Given the description of an element on the screen output the (x, y) to click on. 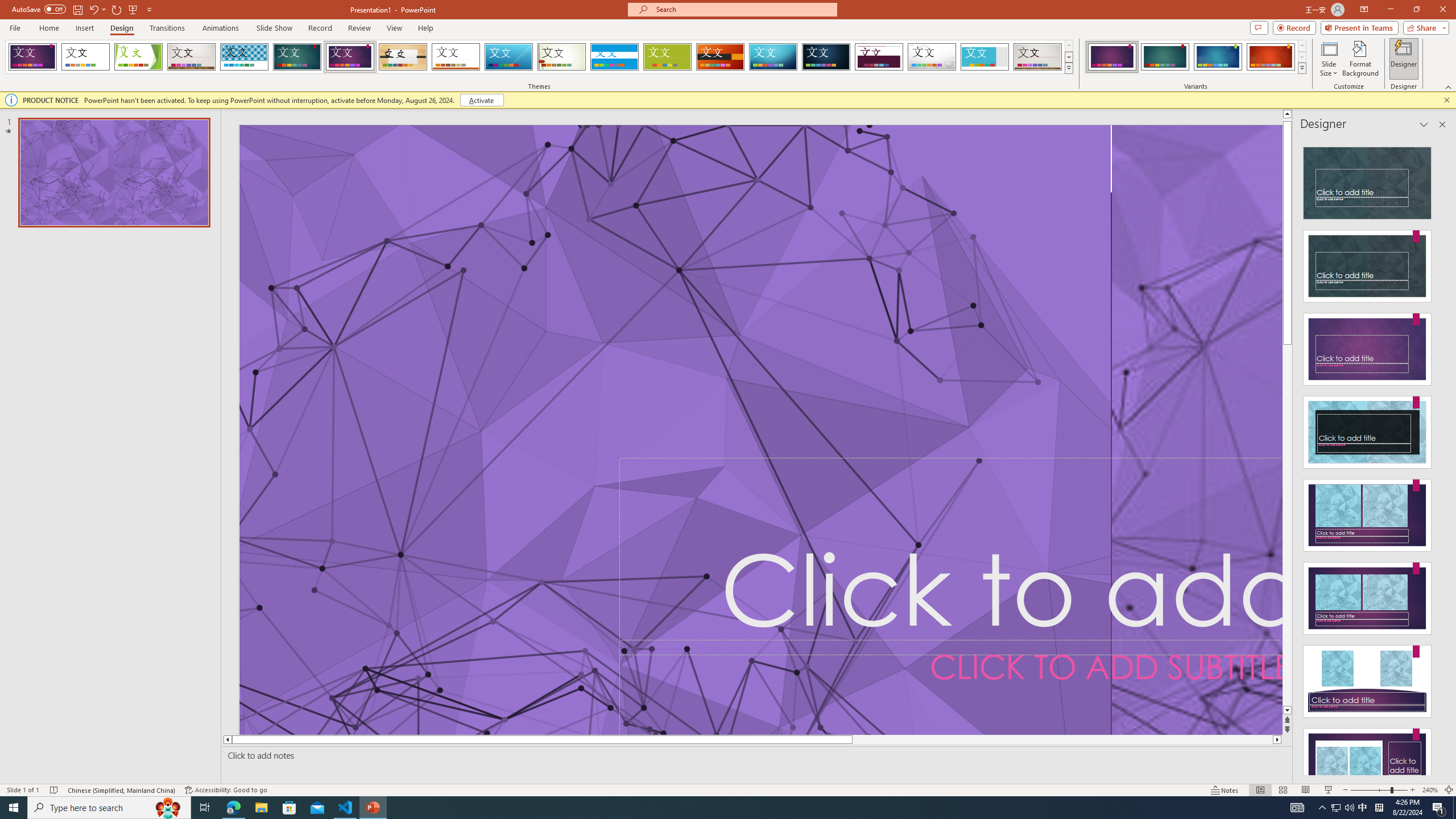
Slice (508, 56)
Basis (667, 56)
Zoom 240% (1430, 790)
AutomationID: SlideThemesGallery (539, 56)
Themes (1068, 67)
Frame (984, 56)
Ion Boardroom Variant 4 (1270, 56)
